Given the description of an element on the screen output the (x, y) to click on. 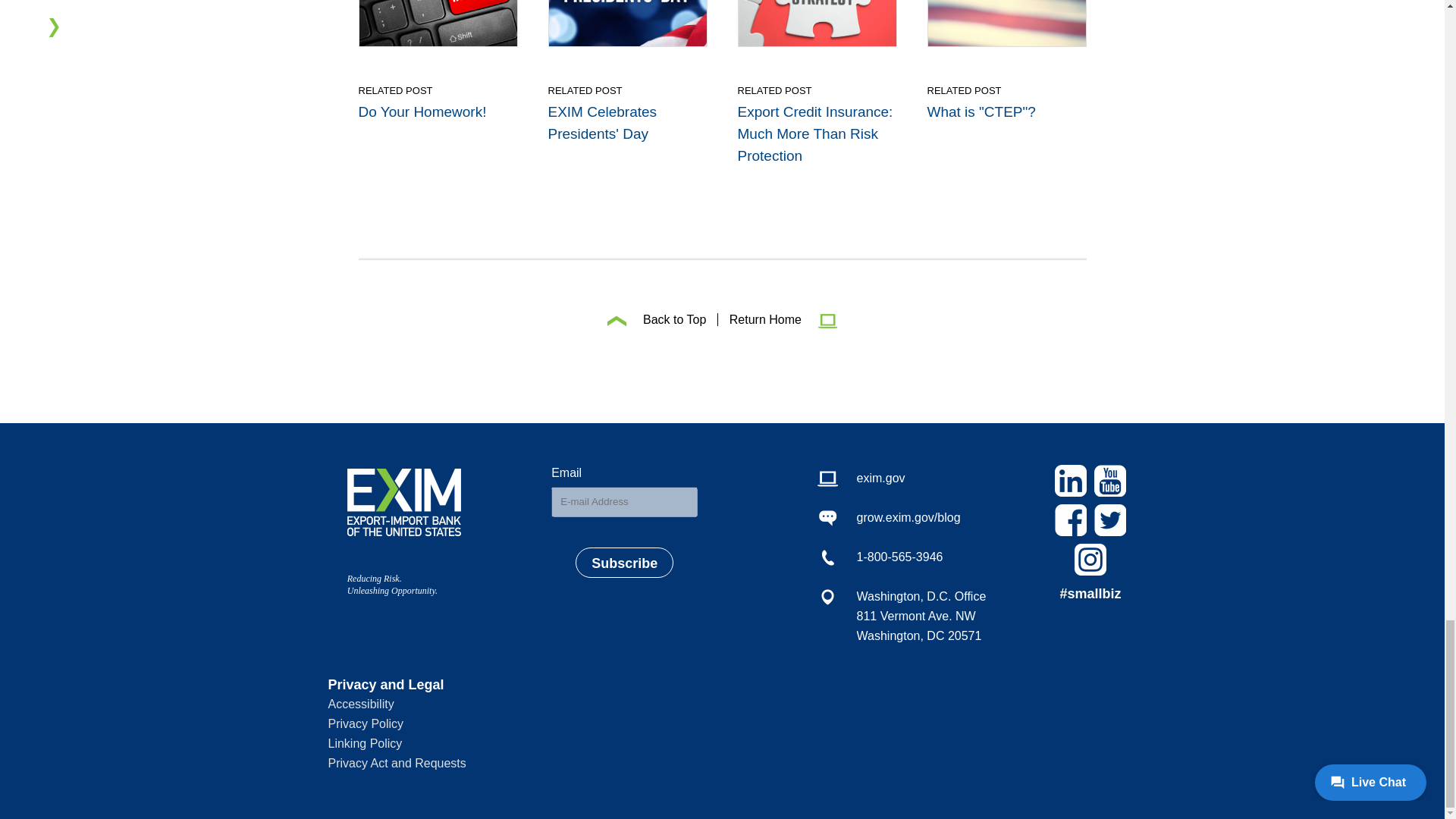
Return Home (778, 318)
Back to Top (657, 318)
exim.gov (901, 478)
Subscribe (623, 562)
Subscribe (623, 562)
